Given the description of an element on the screen output the (x, y) to click on. 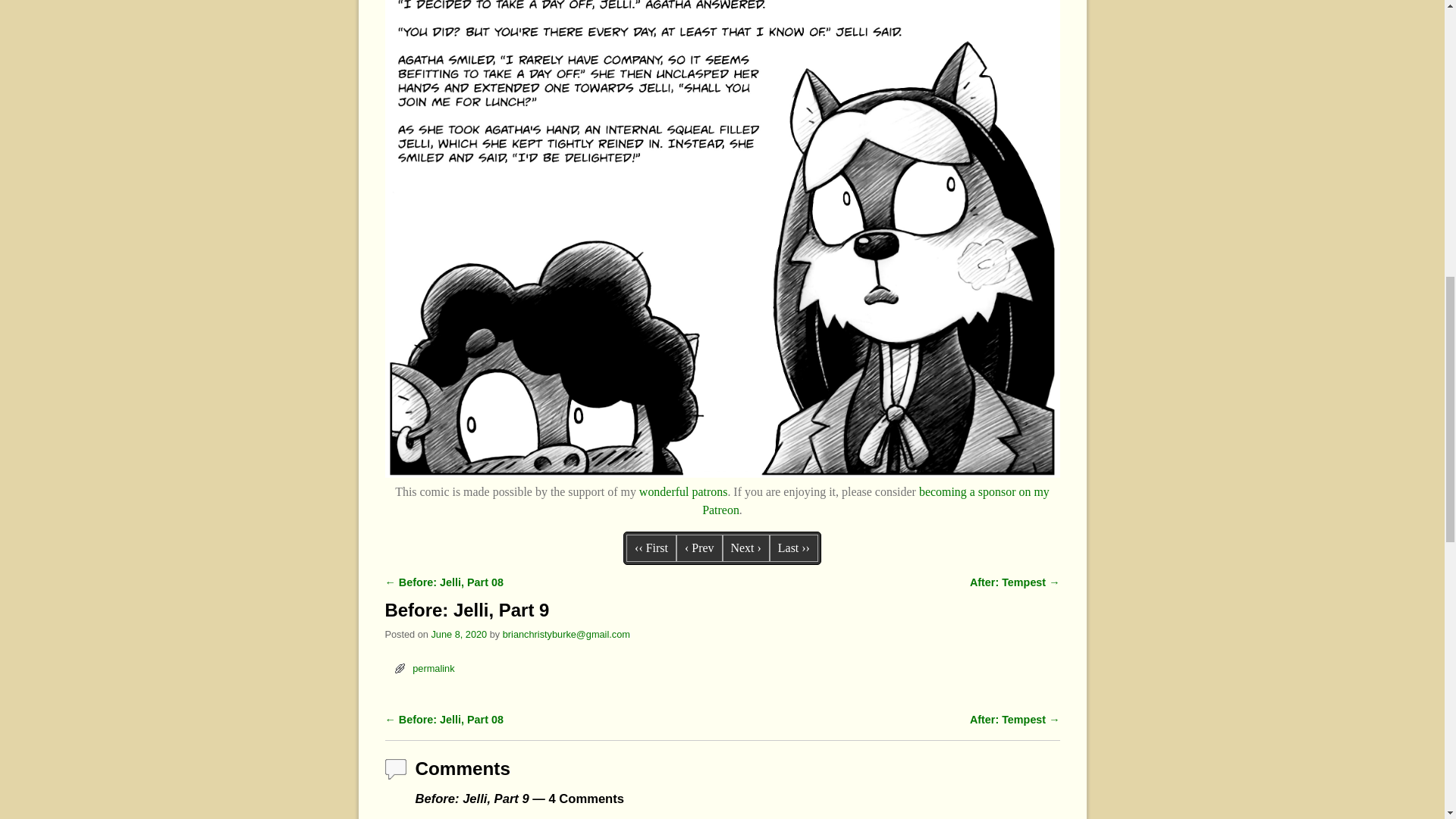
wonderful patrons (683, 491)
Before: Jelli, Part 9 (722, 472)
becoming a sponsor on my Patreon (875, 500)
permalink (433, 668)
Permalink to Before: Jelli, Part 9 (433, 668)
June 8, 2020 (458, 633)
5:20 pm (458, 633)
